Given the description of an element on the screen output the (x, y) to click on. 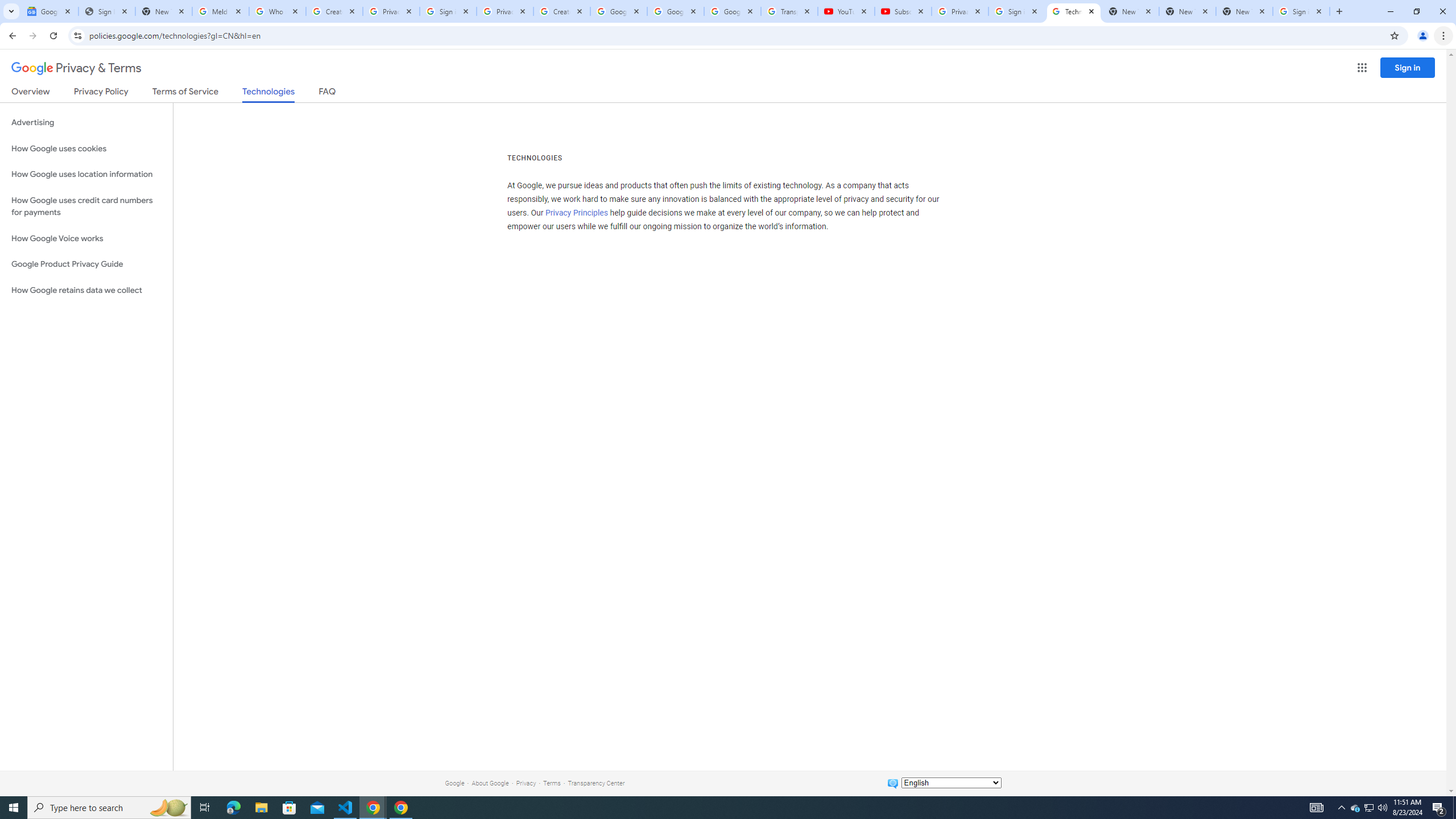
Subscriptions - YouTube (902, 11)
How Google uses location information (86, 174)
How Google Voice works (86, 238)
How Google retains data we collect (86, 289)
Change language: (951, 782)
About Google (490, 783)
Who is my administrator? - Google Account Help (277, 11)
Advertising (86, 122)
